Given the description of an element on the screen output the (x, y) to click on. 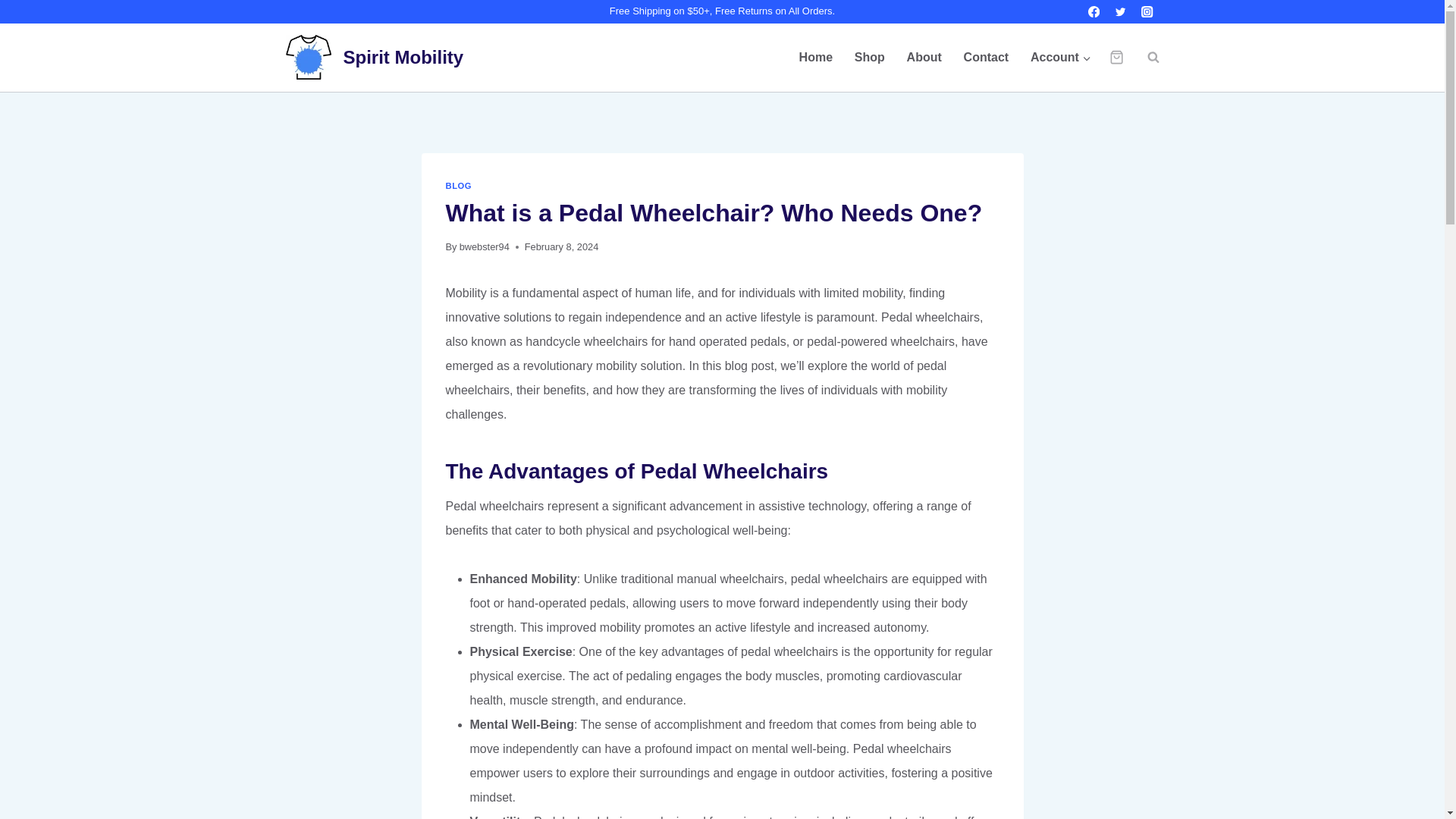
Account (1061, 57)
Shop (869, 57)
Spirit Mobility (374, 57)
Contact (985, 57)
Home (815, 57)
bwebster94 (484, 246)
About (923, 57)
BLOG (458, 185)
